Given the description of an element on the screen output the (x, y) to click on. 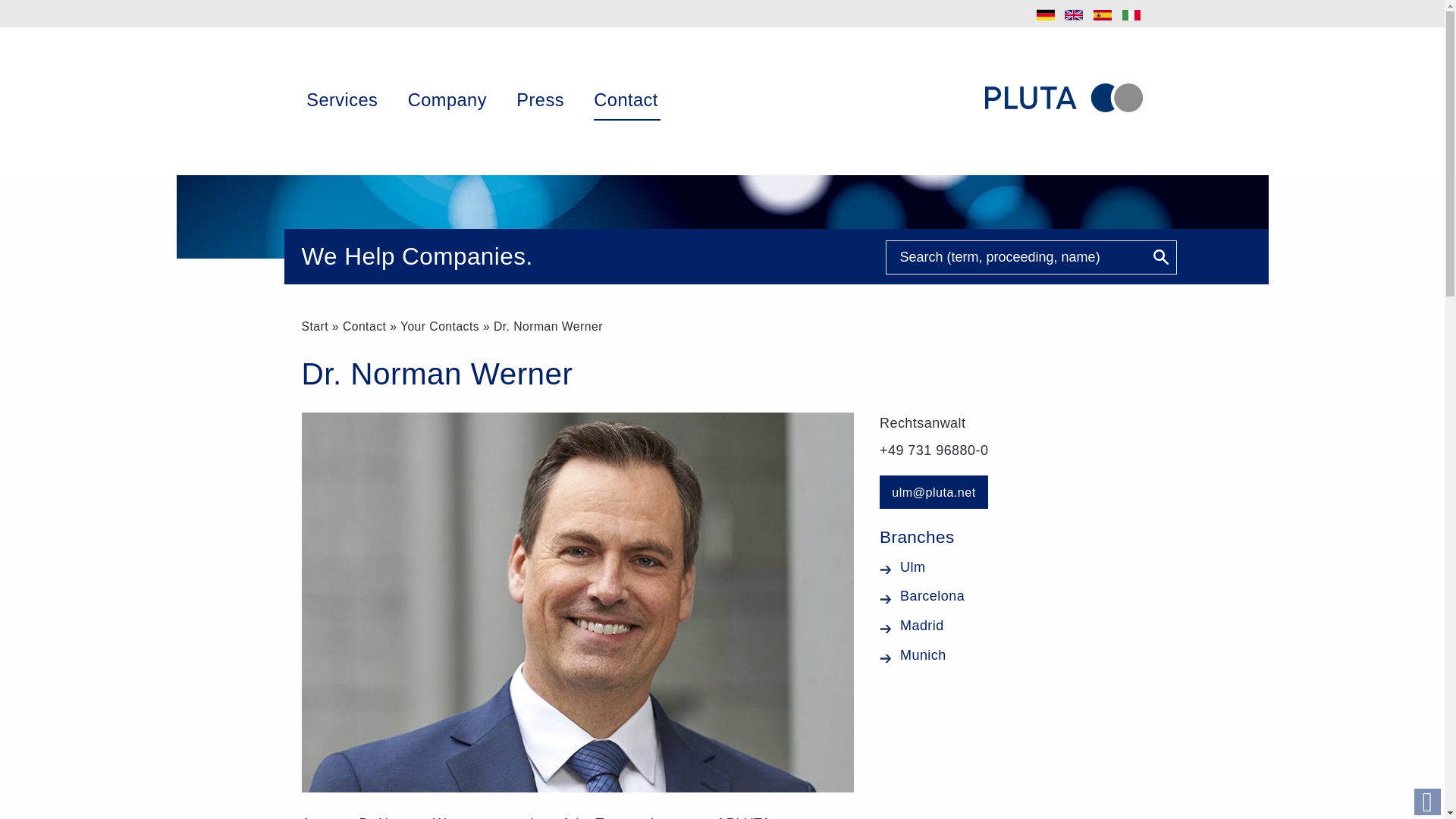
DE (1045, 15)
ES (1102, 15)
IT (1130, 15)
EN (1073, 15)
